Given the description of an element on the screen output the (x, y) to click on. 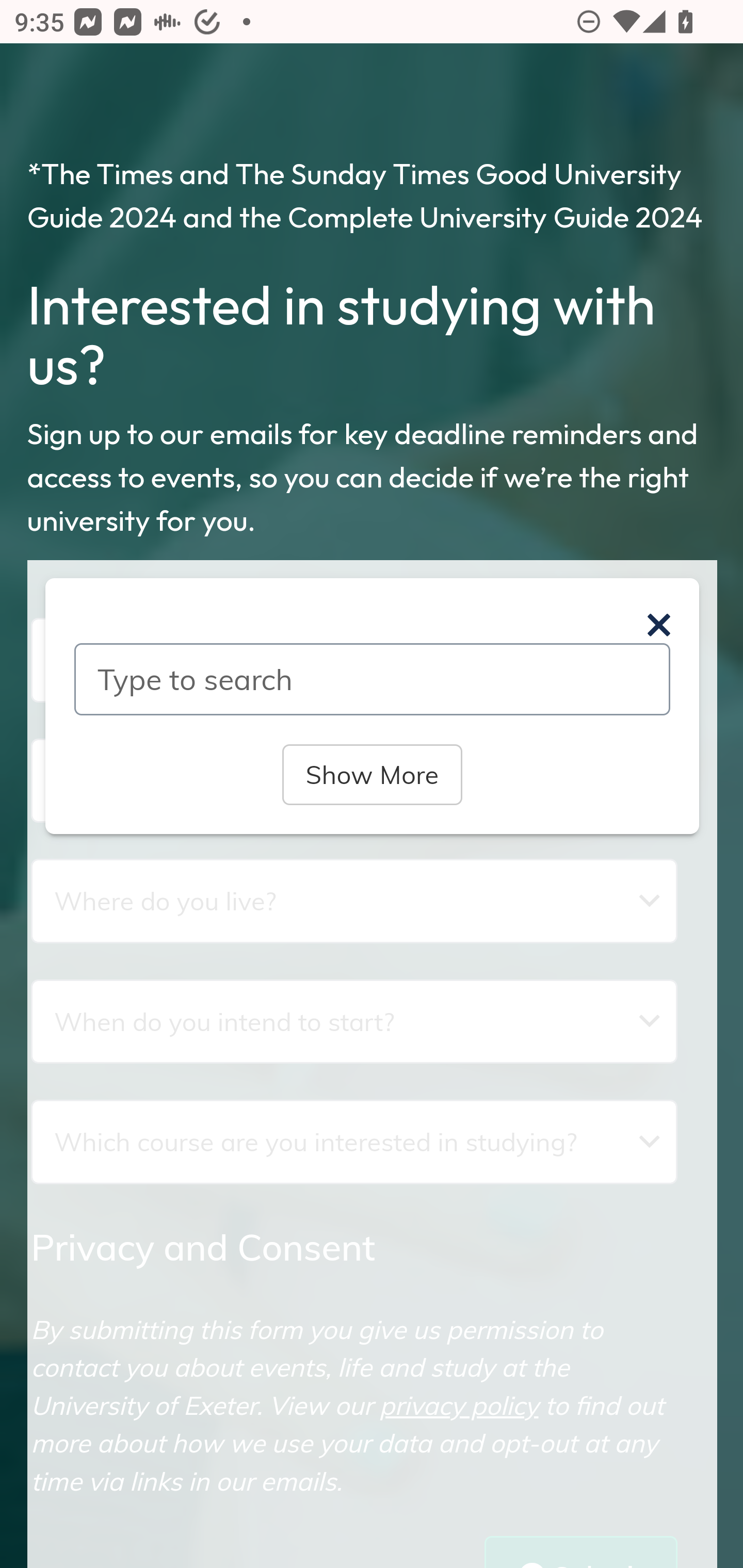
Close (658, 625)
Show More (371, 774)
Where do you live? (353, 900)
When do you intend to start? (353, 1021)
Which course are you interested in studying? (353, 1141)
Link privacy policy privacy policy (458, 1404)
